Given the description of an element on the screen output the (x, y) to click on. 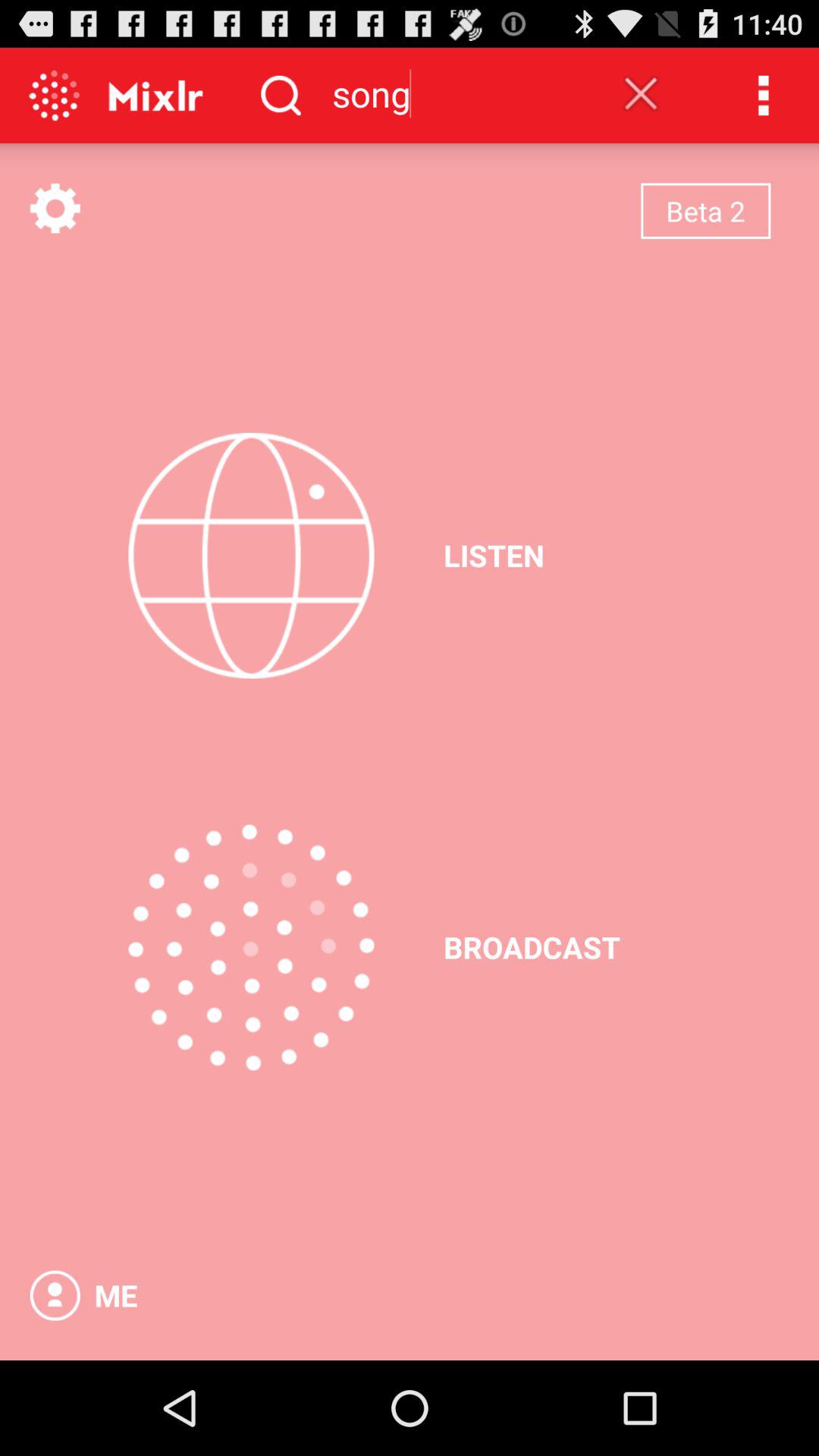
click the item above me item (251, 947)
